Given the description of an element on the screen output the (x, y) to click on. 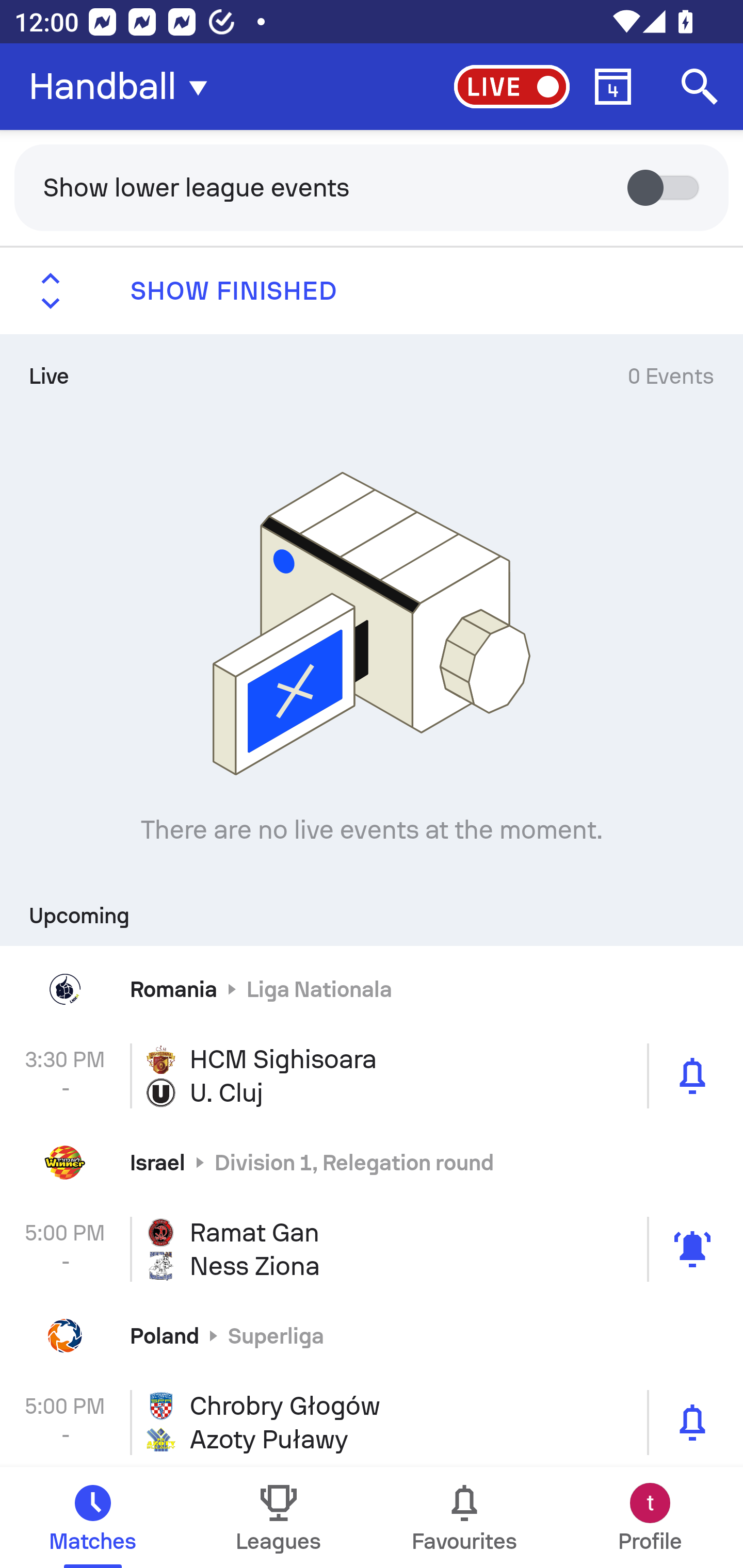
Handball (124, 86)
Calendar (612, 86)
Search (699, 86)
Show lower league events (371, 187)
SHOW FINISHED (371, 290)
Upcoming (371, 909)
Romania Liga Nationala (371, 989)
3:30 PM - HCM Sighisoara U. Cluj (371, 1076)
Israel Division 1, Relegation round (371, 1162)
5:00 PM - Ramat Gan Ness Ziona (371, 1248)
Poland Superliga (371, 1335)
5:00 PM - Chrobry Głogów Azoty Puławy (371, 1422)
Leagues (278, 1517)
Favourites (464, 1517)
Profile (650, 1517)
